Given the description of an element on the screen output the (x, y) to click on. 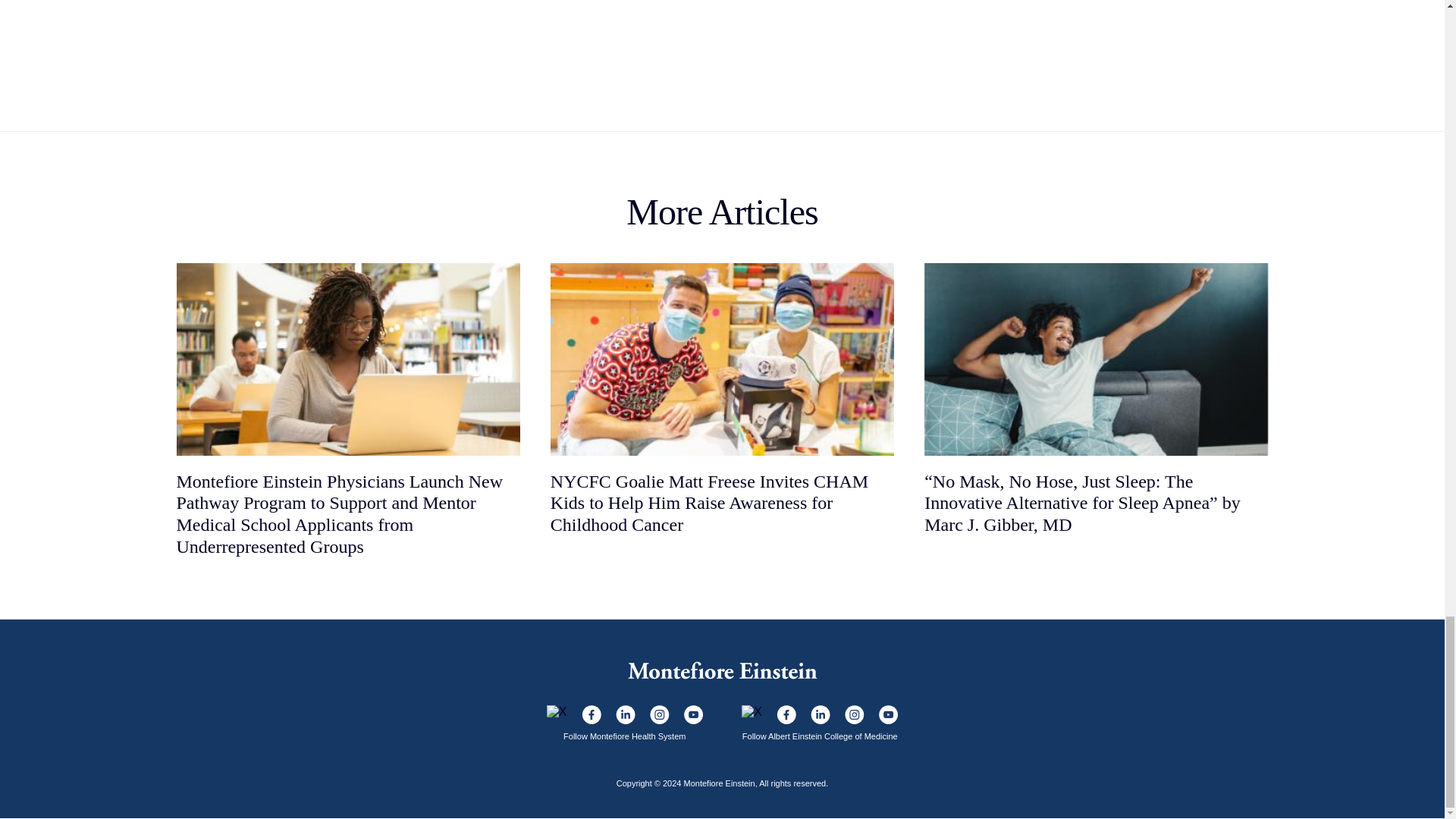
Image (557, 712)
Image (589, 714)
Image (624, 714)
